Given the description of an element on the screen output the (x, y) to click on. 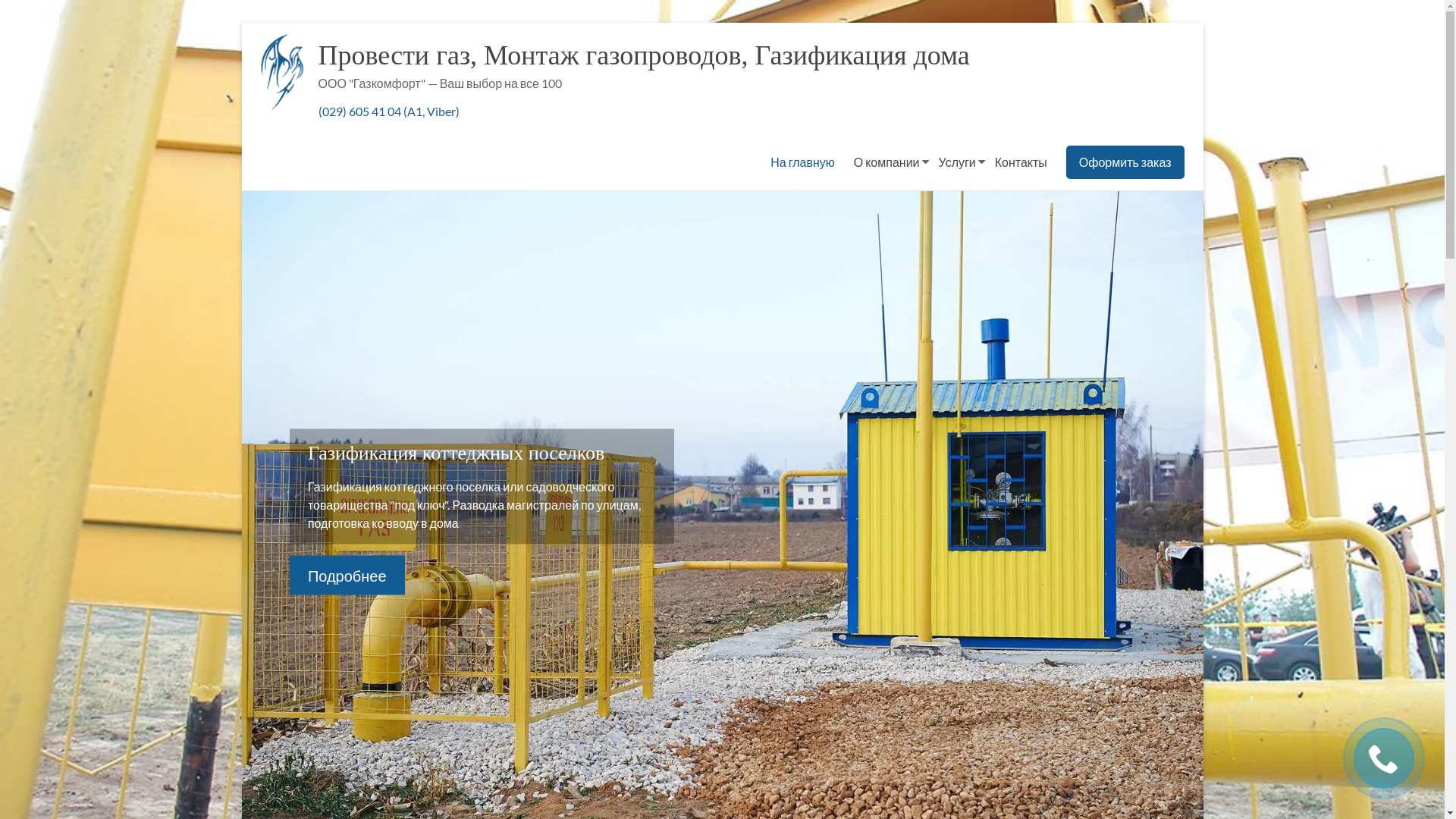
(029) 605 41 04 (A1, Viber) Element type: text (388, 110)
